Given the description of an element on the screen output the (x, y) to click on. 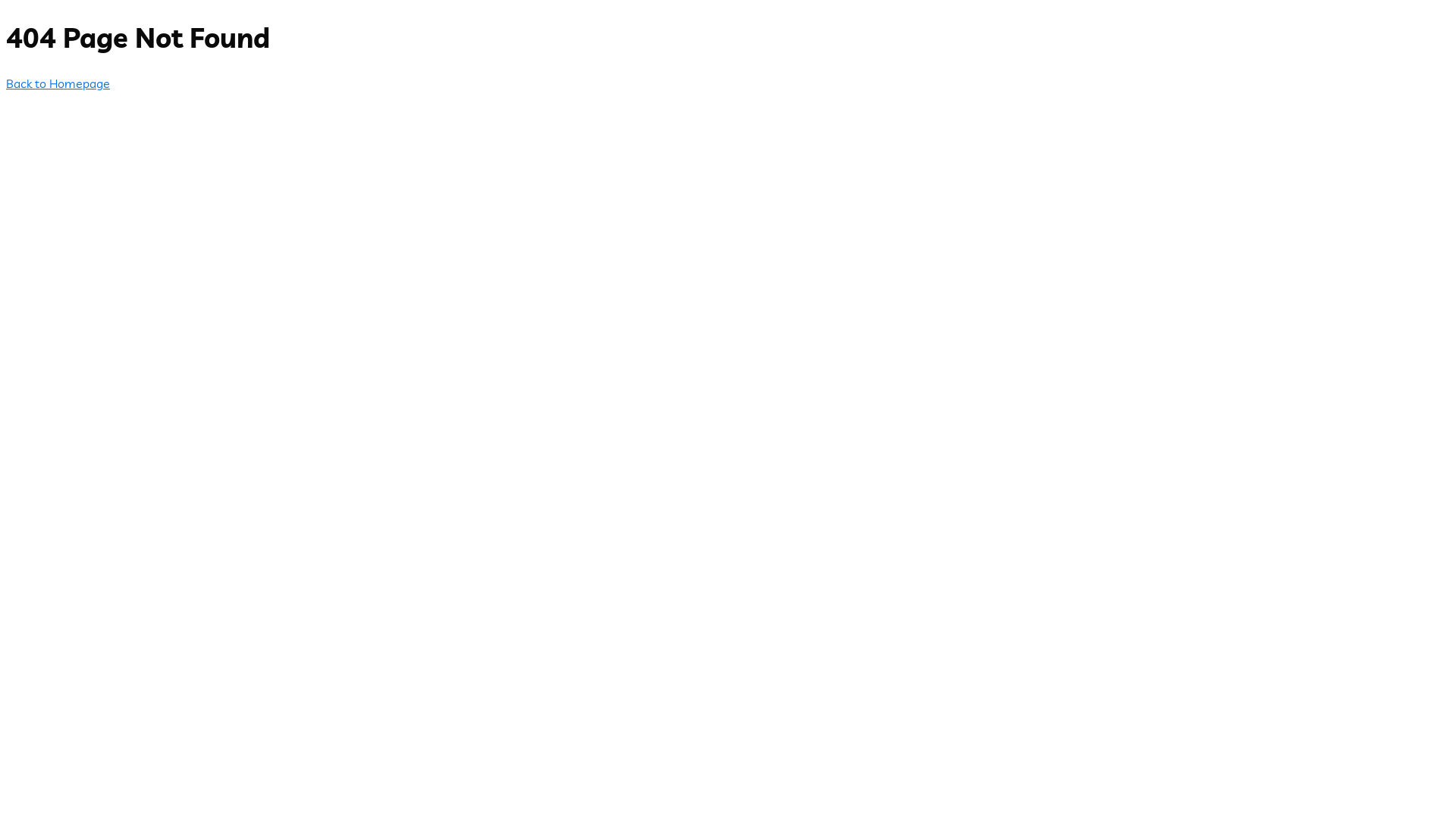
Back to Homepage Element type: text (57, 83)
